Given the description of an element on the screen output the (x, y) to click on. 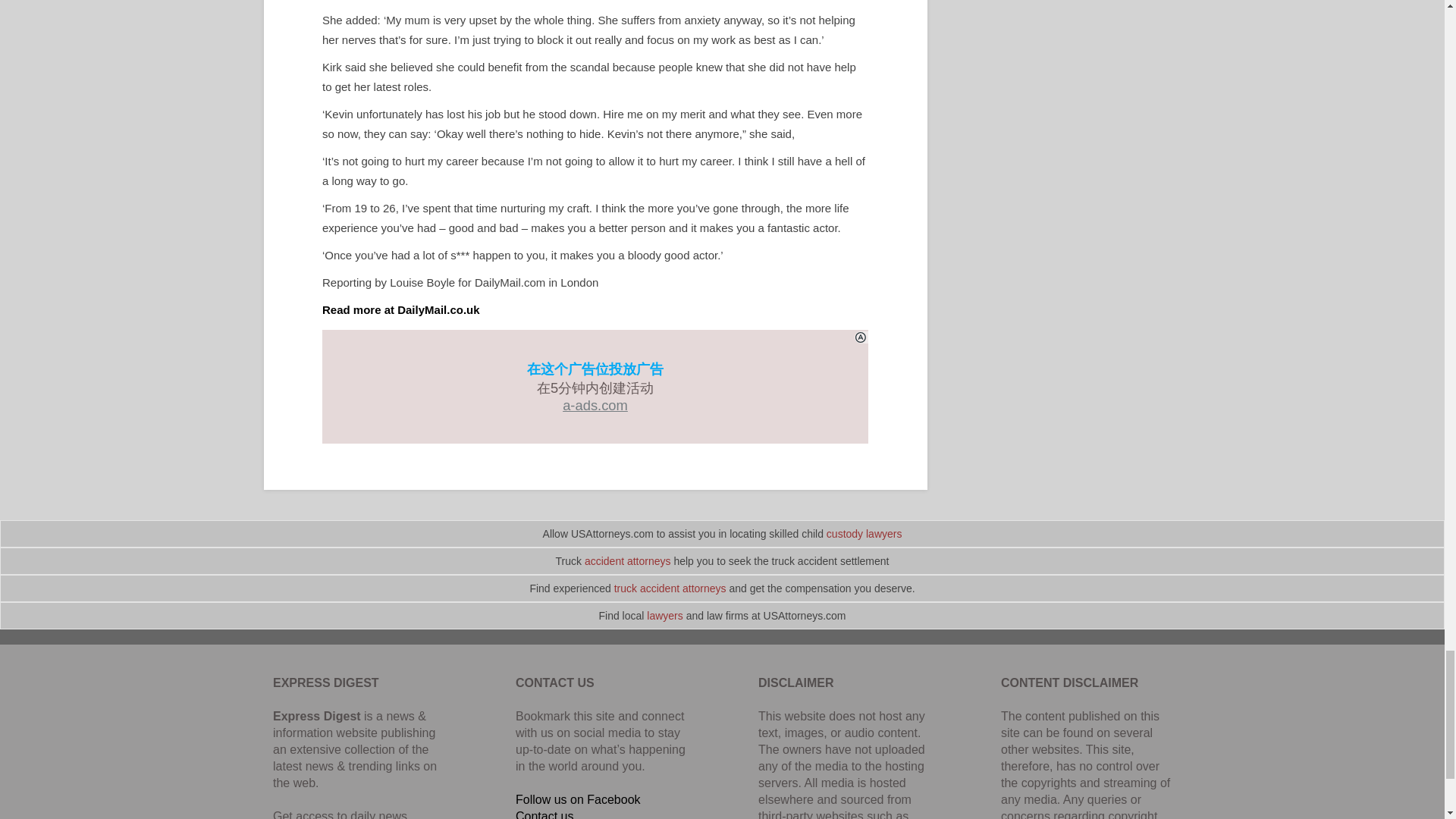
Read more at DailyMail.co.uk (400, 309)
truck accident attorneys (670, 588)
accident attorneys (628, 561)
lawyers (664, 615)
custody lawyers (864, 533)
